Given the description of an element on the screen output the (x, y) to click on. 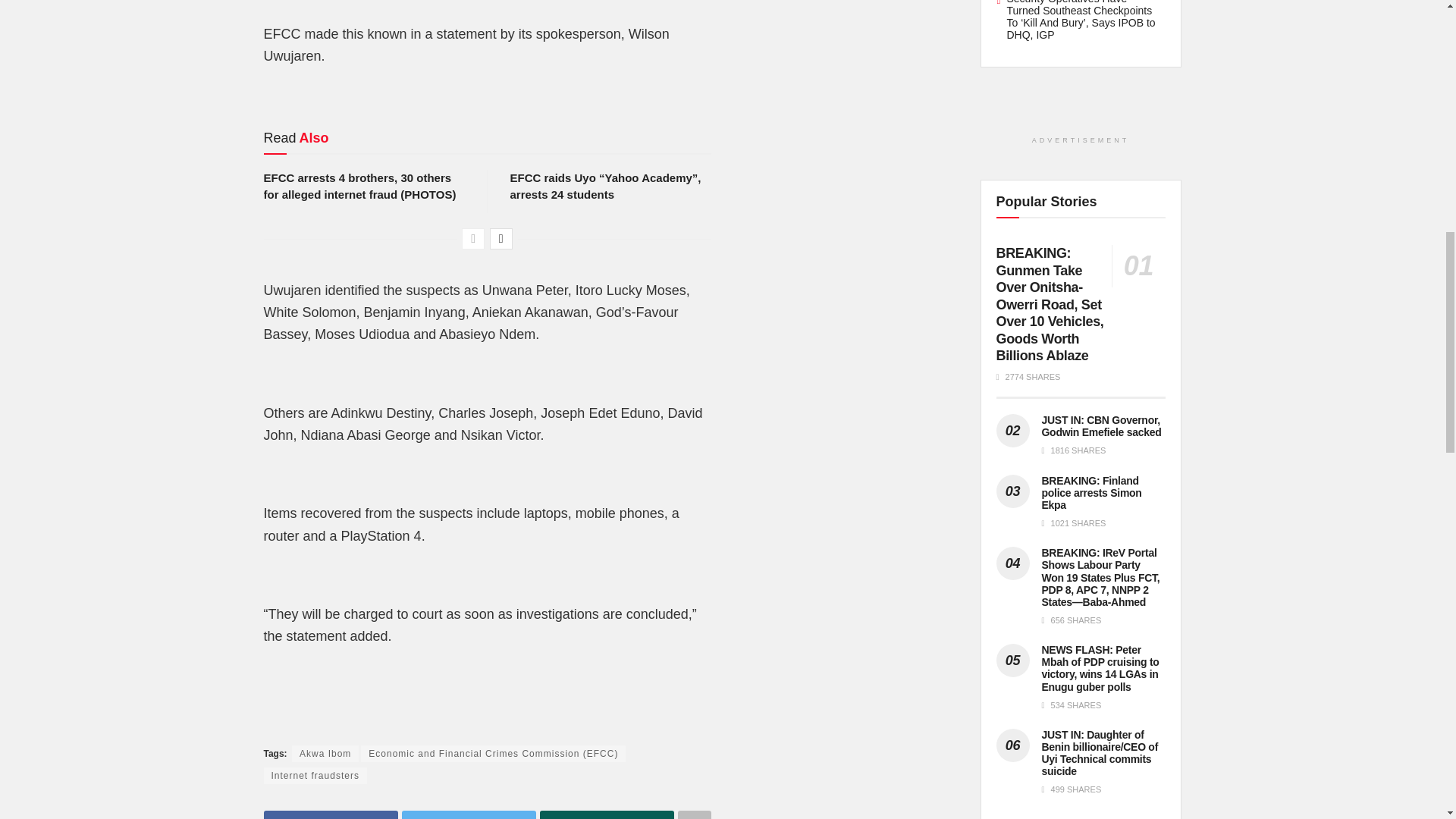
Previous (472, 238)
Next (500, 238)
